Given the description of an element on the screen output the (x, y) to click on. 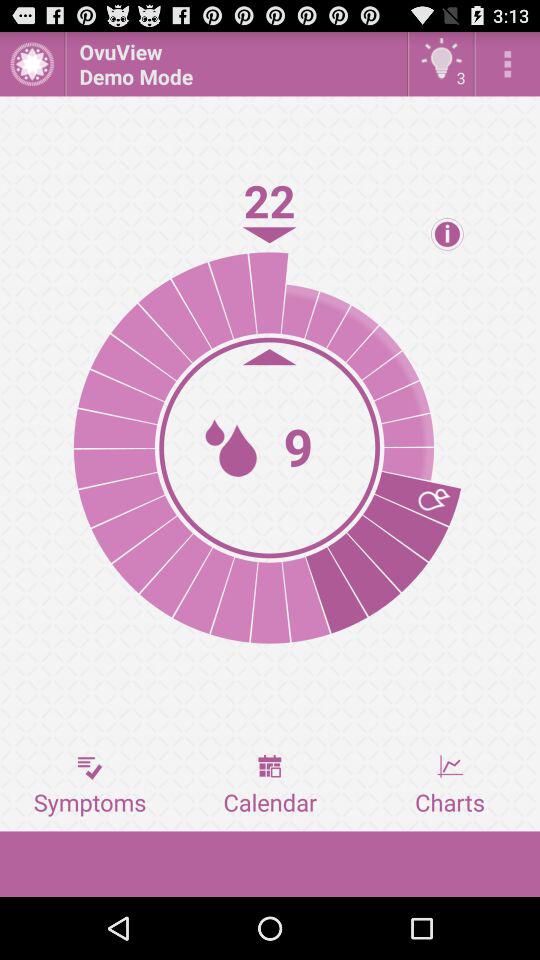
turn on calendar button (270, 785)
